Given the description of an element on the screen output the (x, y) to click on. 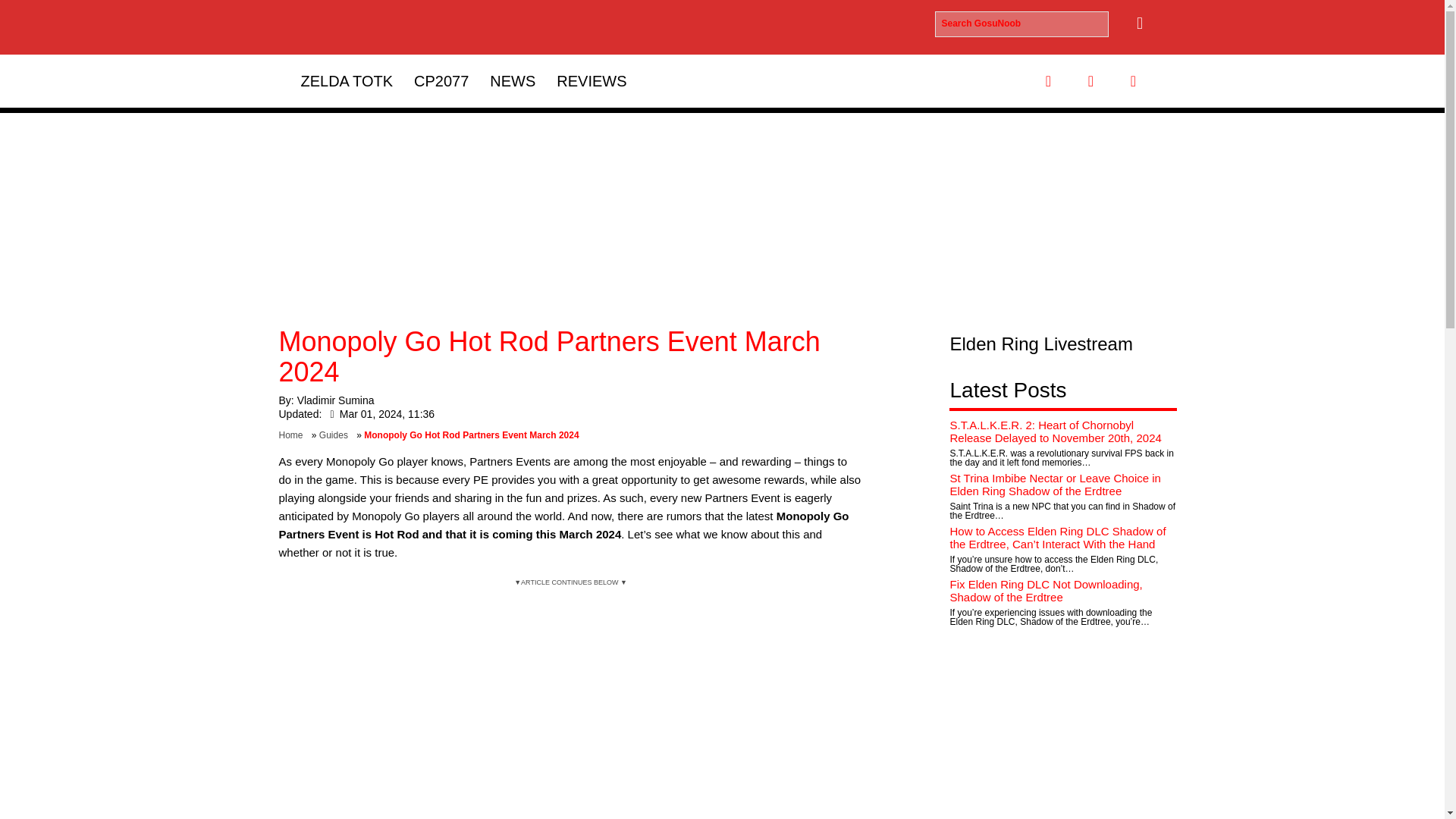
NEWS (512, 80)
REVIEWS (591, 80)
ZELDA TOTK (346, 80)
Home (293, 434)
Cyberpunk 2077 (441, 80)
Fix Elden Ring DLC Not Downloading, Shadow of the Erdtree (1045, 590)
Guides (335, 434)
Vladimir Sumina (335, 399)
CP2077 (441, 80)
Fix Elden Ring DLC Not Downloading, Shadow of the Erdtree (1045, 590)
